Given the description of an element on the screen output the (x, y) to click on. 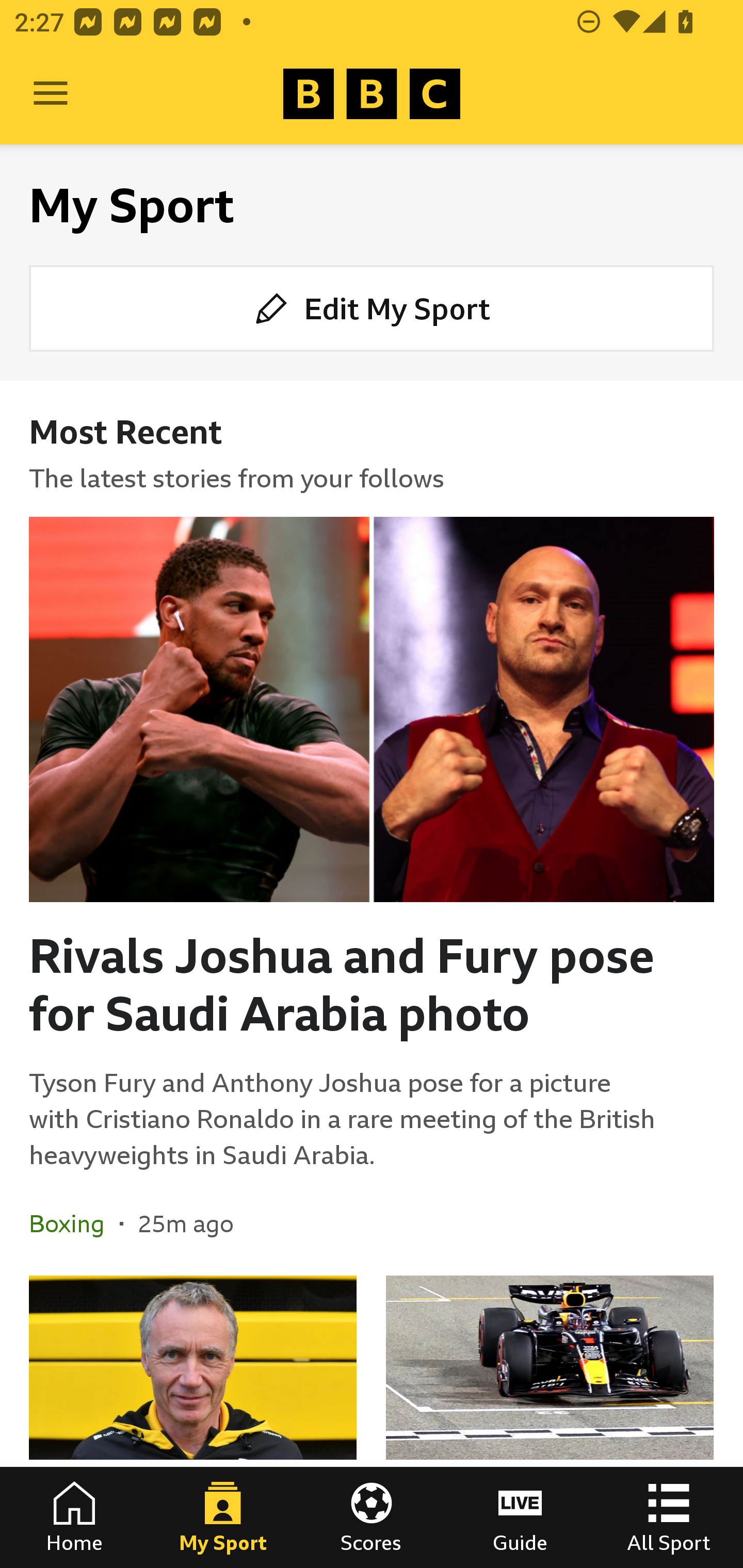
Open Menu (50, 93)
Edit My Sport (371, 307)
Engineer Bell leaves struggling Alpine (192, 1421)
Home (74, 1517)
Scores (371, 1517)
Guide (519, 1517)
All Sport (668, 1517)
